Given the description of an element on the screen output the (x, y) to click on. 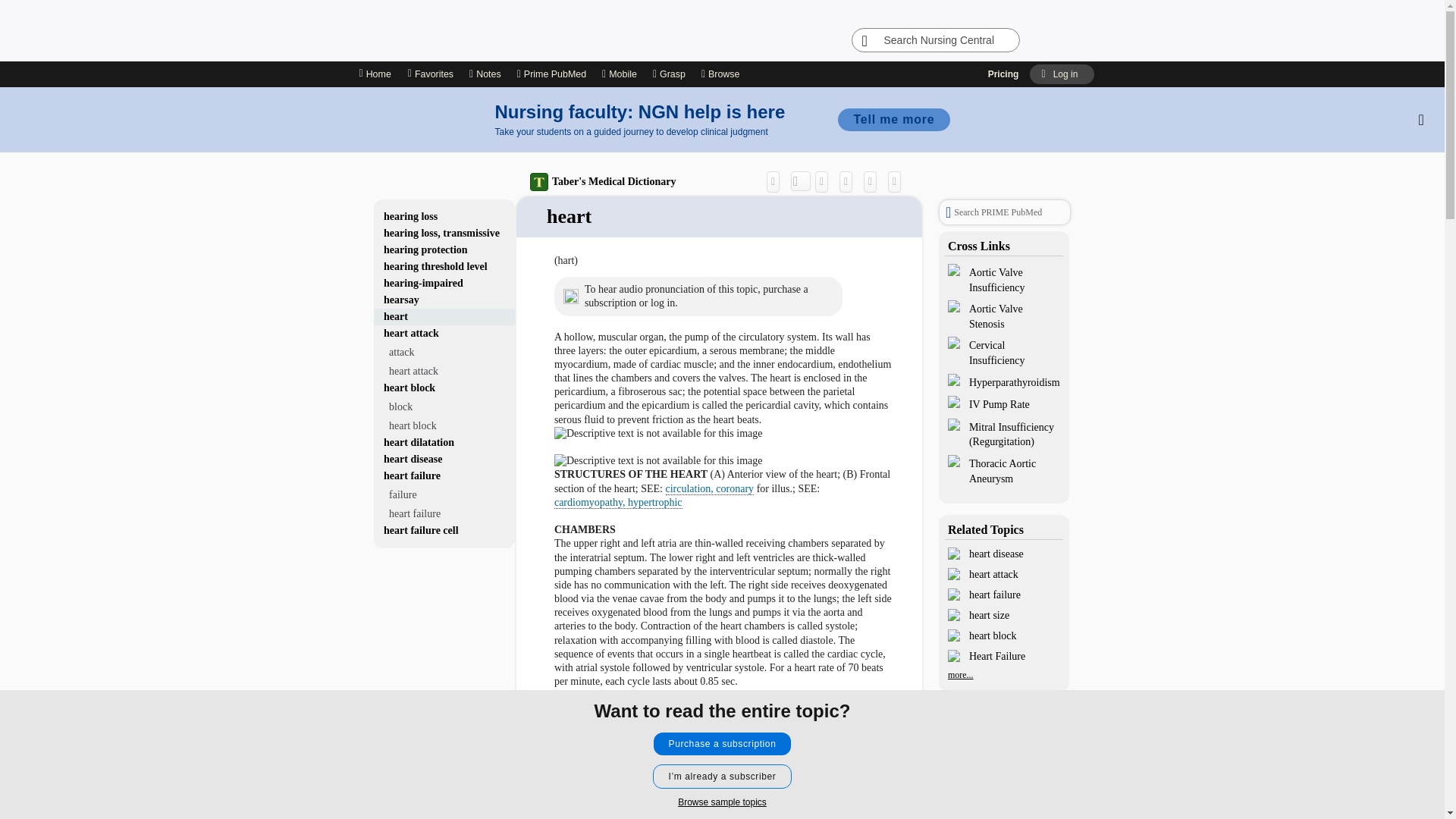
Prime PubMed (551, 73)
Pricing (1003, 73)
Tell me more (893, 119)
Notes (484, 73)
Favorites (429, 73)
Create Citation (825, 188)
Browse (722, 73)
Favorites (429, 73)
Aortic Valve Stenosis (1003, 315)
circulation, coronary (709, 495)
